Given the description of an element on the screen output the (x, y) to click on. 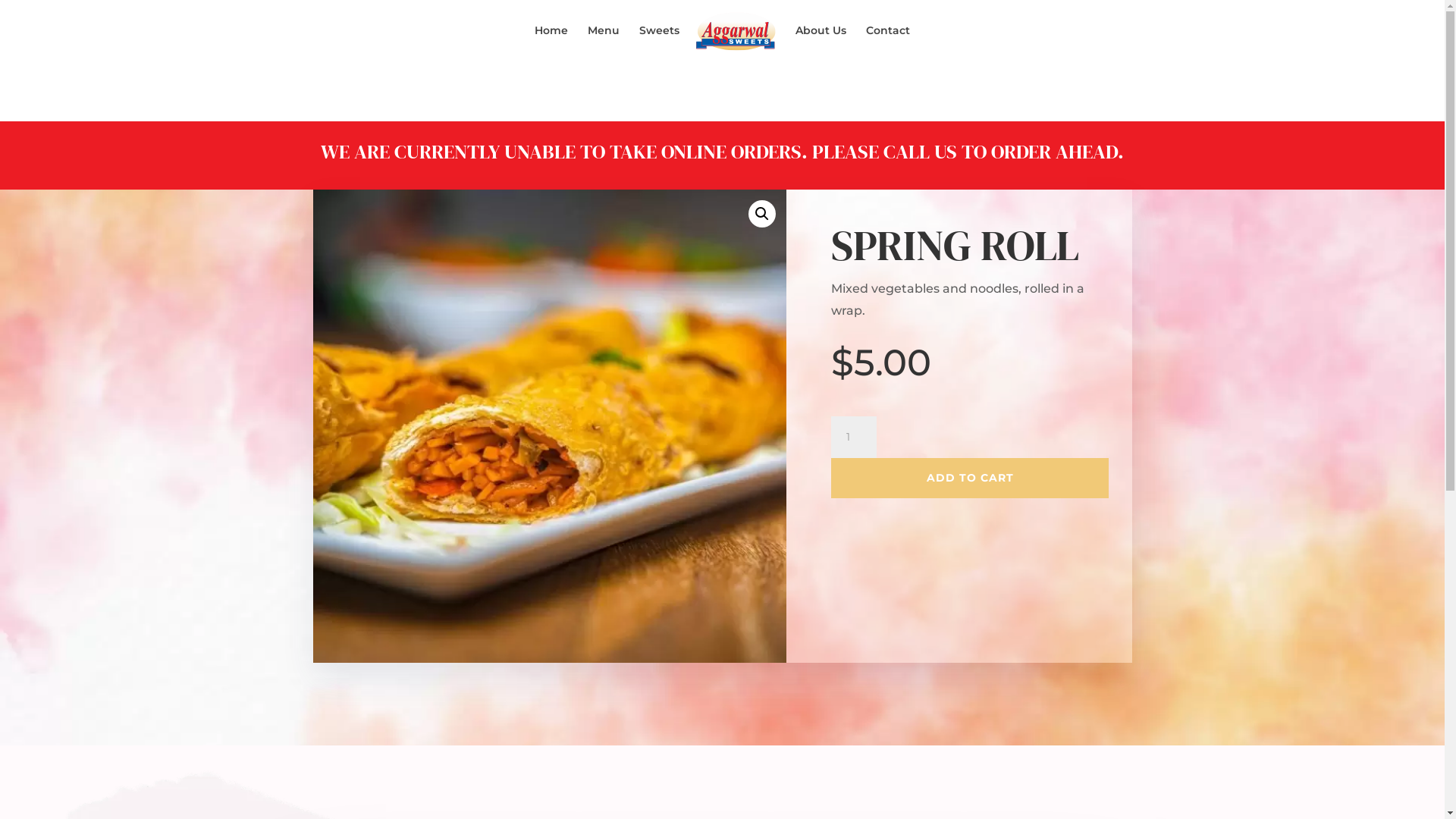
Menu Element type: text (603, 42)
Home Element type: text (550, 42)
spring_rolls Element type: hover (548, 425)
Qty Element type: hover (853, 437)
ADD TO CART Element type: text (969, 477)
Sweets Element type: text (659, 42)
Contact Element type: text (888, 42)
About Us Element type: text (820, 42)
